Given the description of an element on the screen output the (x, y) to click on. 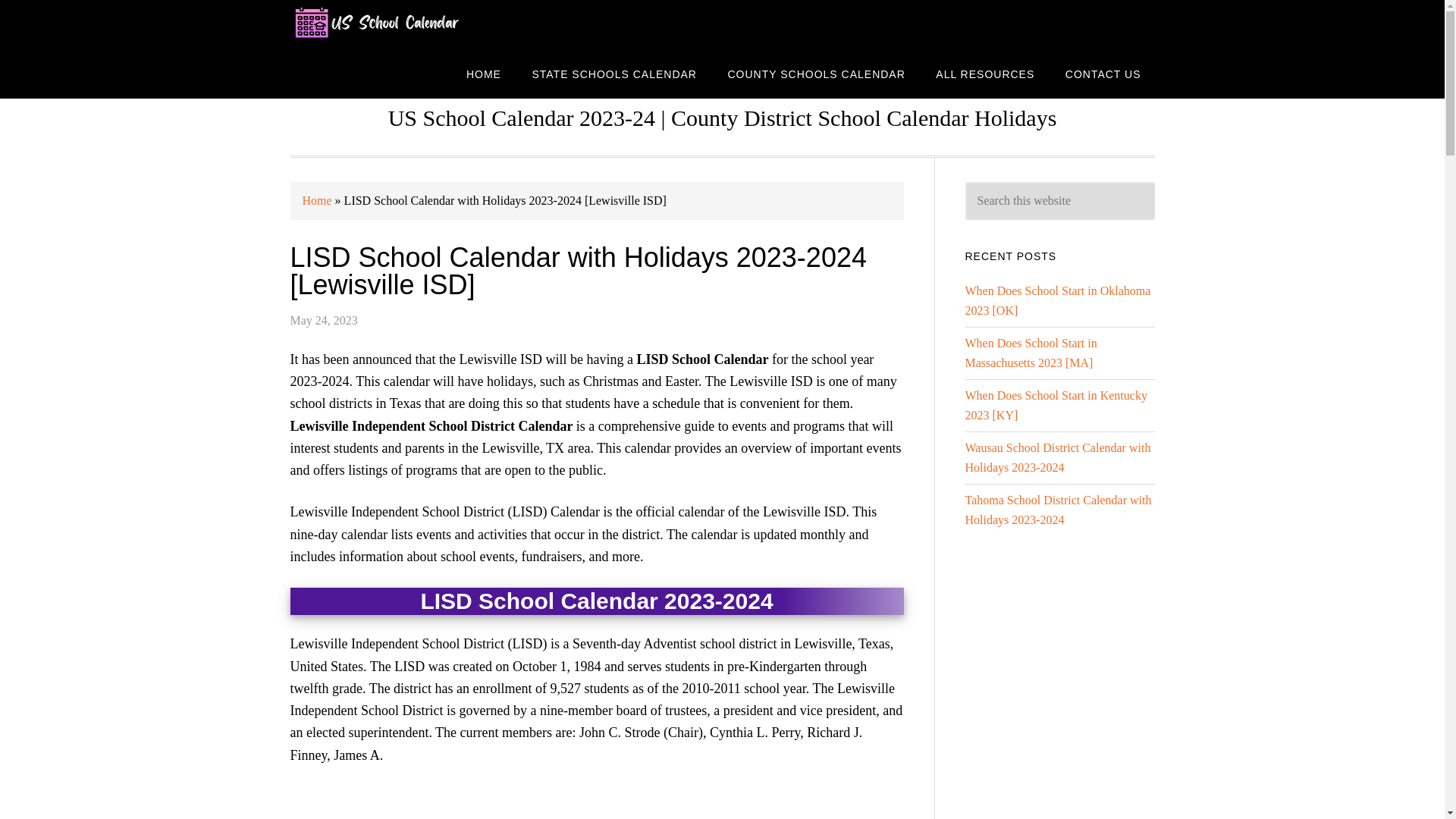
HOME (483, 73)
COUNTY SCHOOLS CALENDAR (815, 73)
Home (316, 200)
US SCHOOL CALENDAR (410, 24)
Wausau School District Calendar with Holidays 2023-2024 (1056, 457)
CONTACT US (1102, 73)
Tahoma School District Calendar with Holidays 2023-2024 (1057, 509)
STATE SCHOOLS CALENDAR (614, 73)
ALL RESOURCES (984, 73)
